Given the description of an element on the screen output the (x, y) to click on. 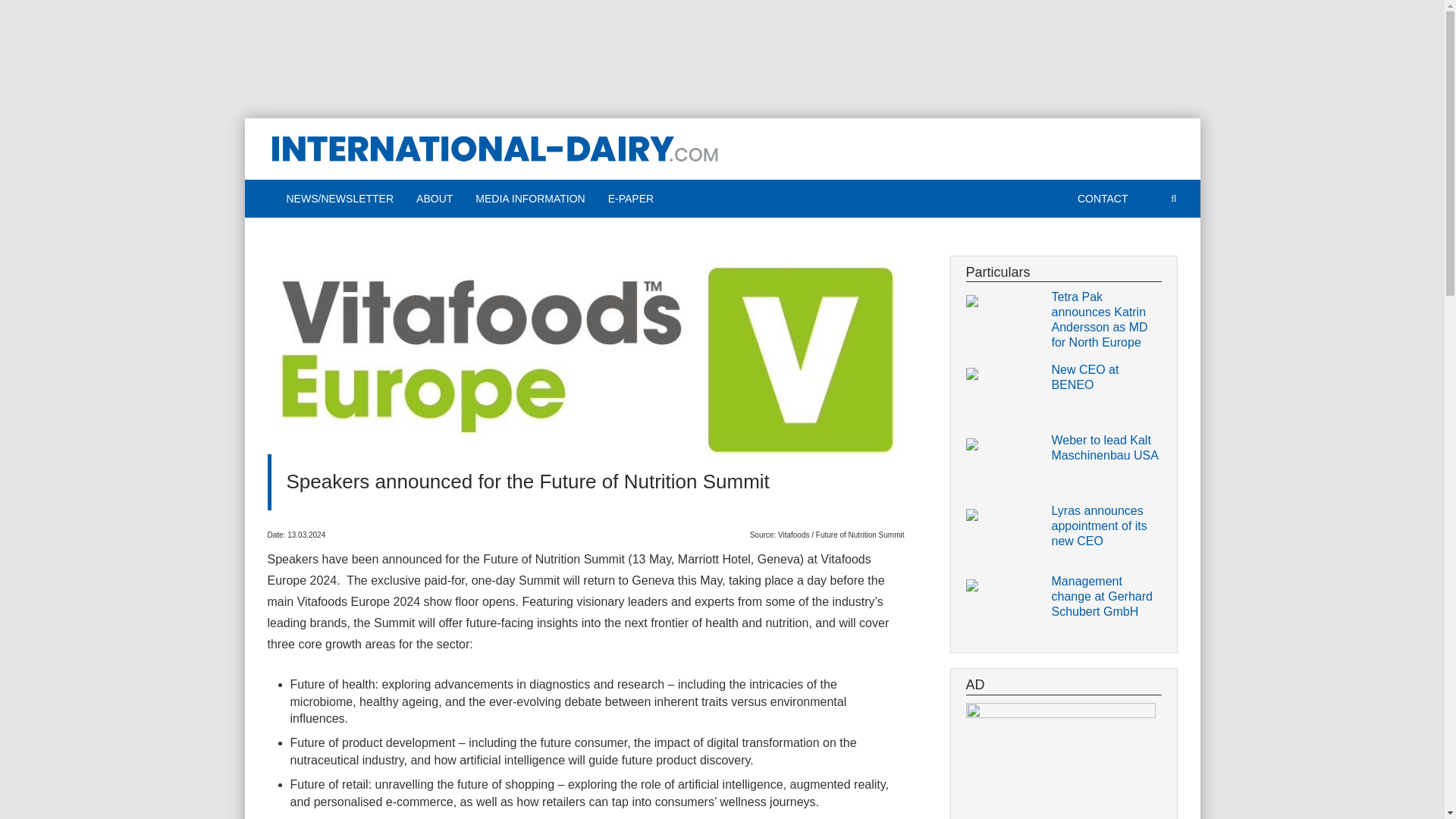
ABOUT (434, 198)
Management change at Gerhard Schubert GmbH (1105, 596)
Tetra Pak announces Katrin Andersson as MD for North Europe (1105, 319)
New CEO at BENEO (1105, 377)
CONTACT (1102, 198)
Weber to lead Kalt Maschinenbau USA (1105, 448)
MEDIA INFORMATION (529, 198)
E-PAPER (630, 198)
Lyras announces appointment of its new CEO (1105, 525)
